Given the description of an element on the screen output the (x, y) to click on. 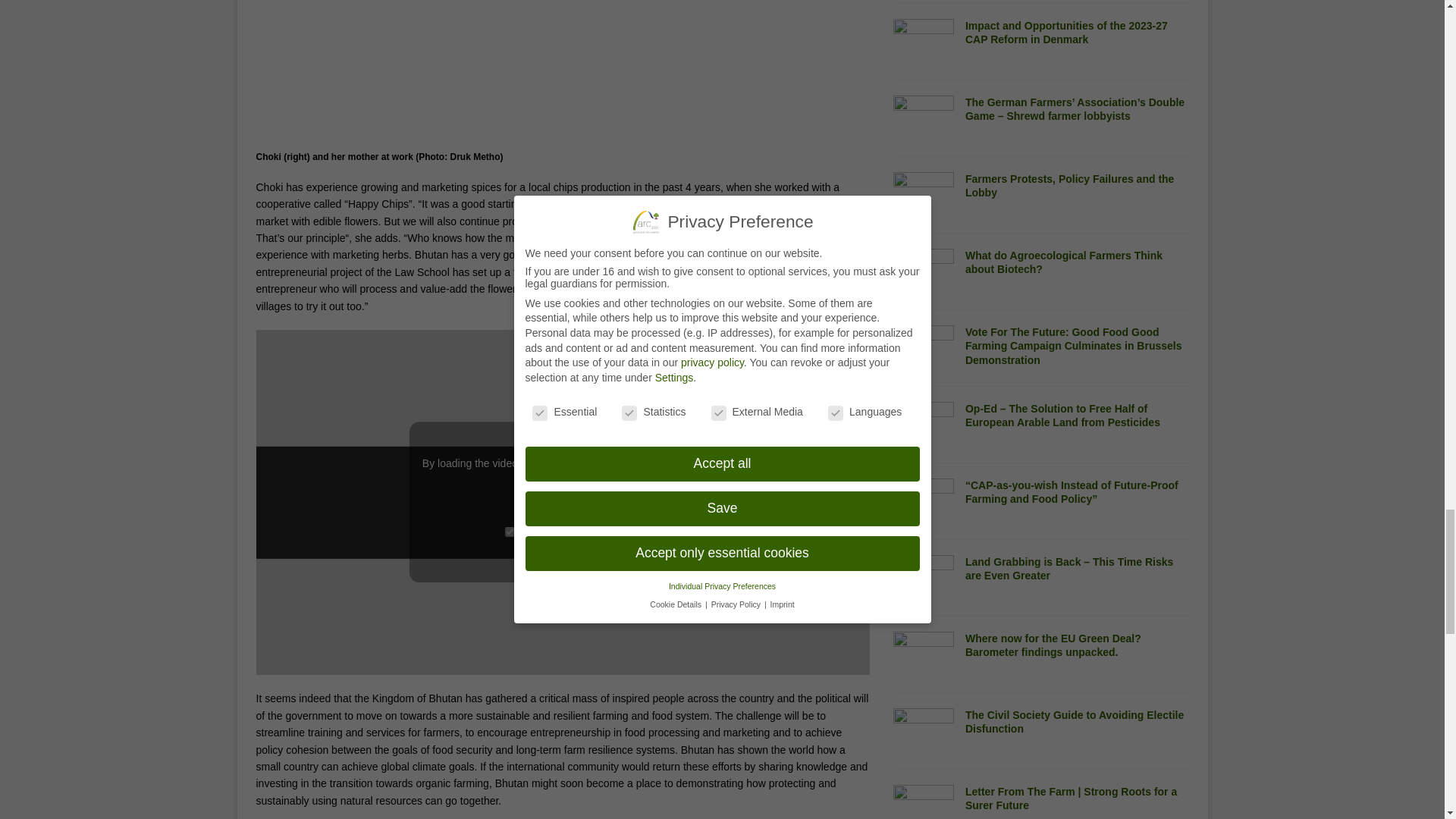
1 (510, 532)
